Given the description of an element on the screen output the (x, y) to click on. 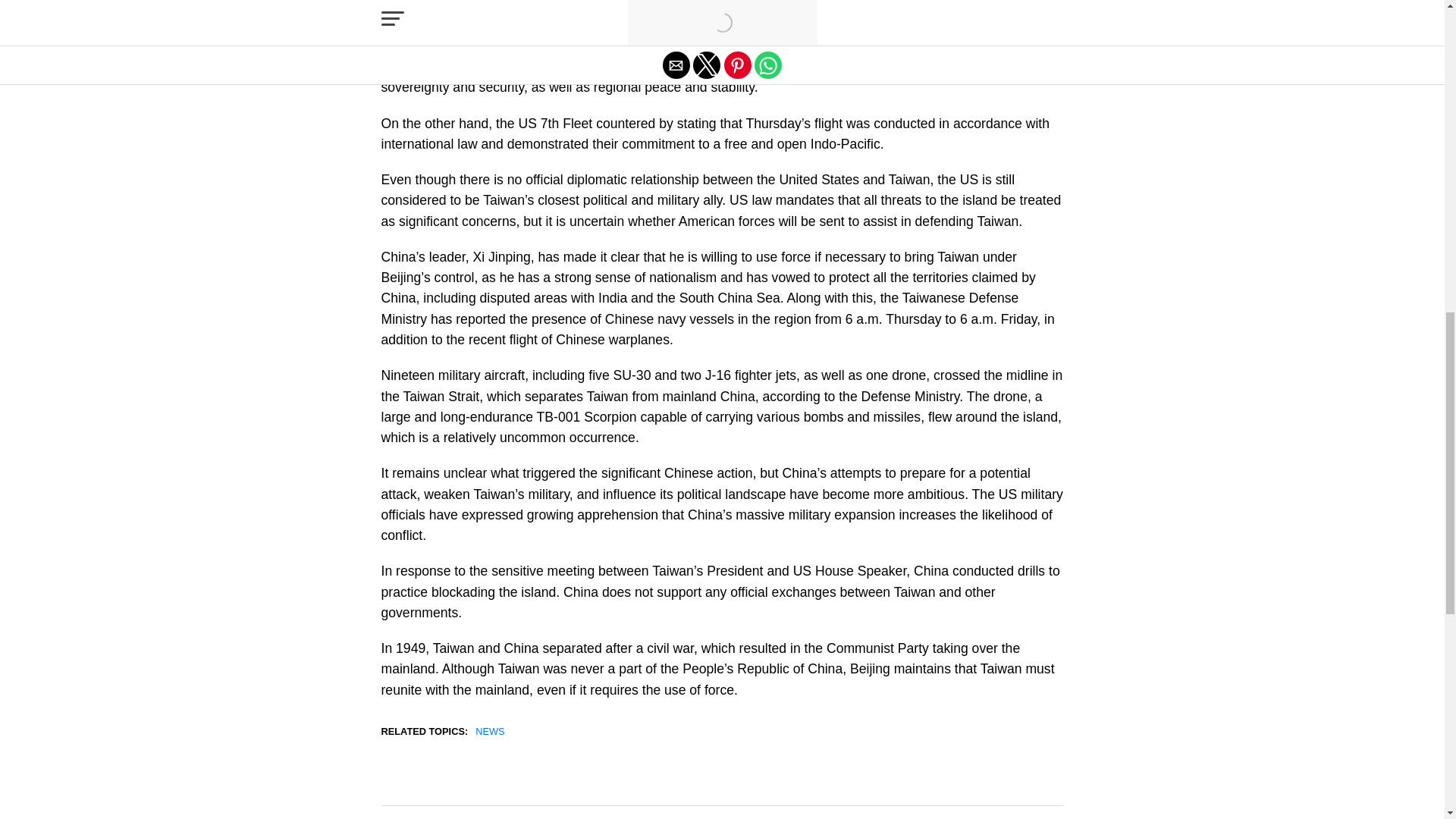
NEWS (489, 732)
